Given the description of an element on the screen output the (x, y) to click on. 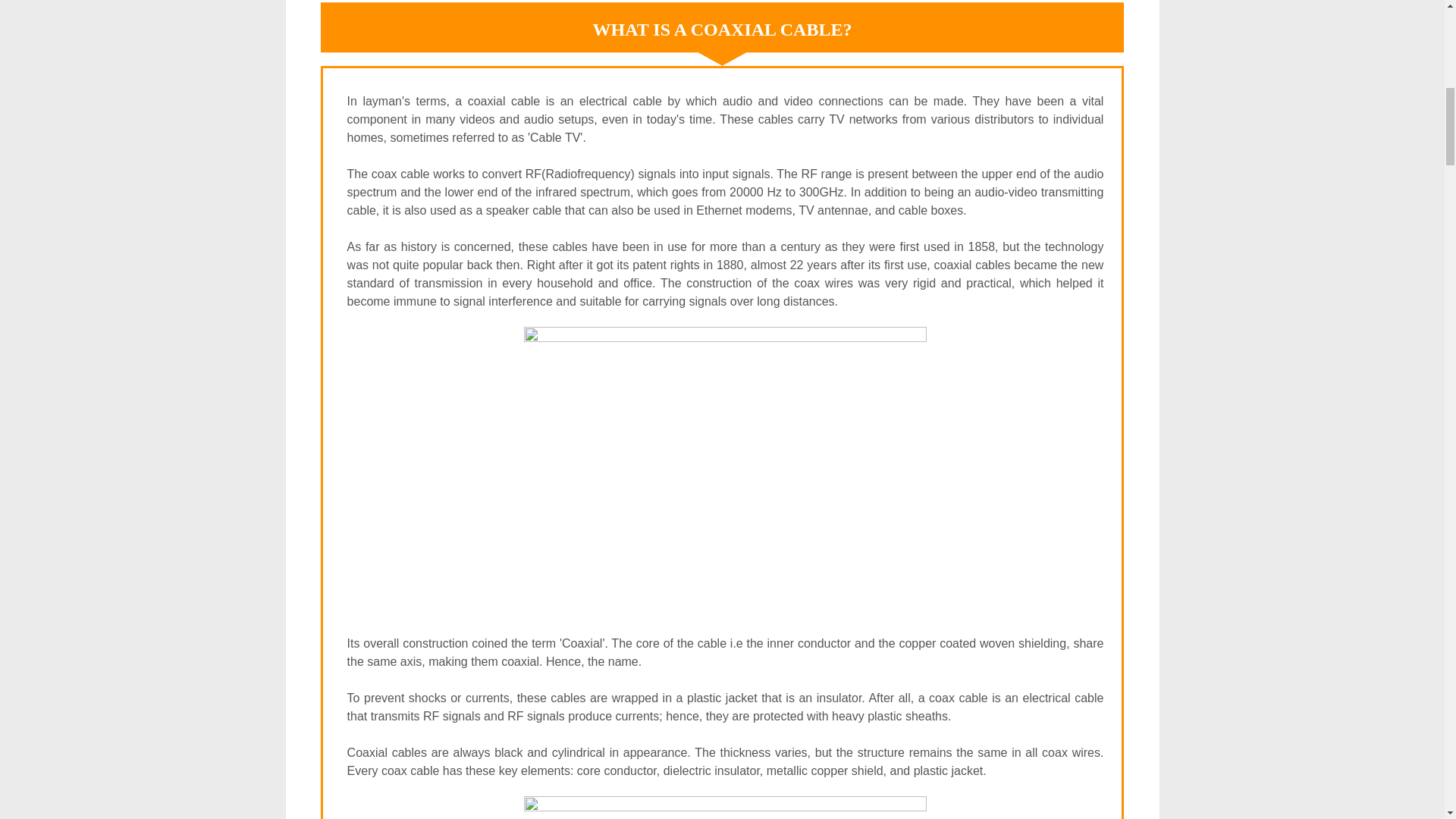
COAXIAL CABLE WORKING (725, 470)
coaxial cable diagram (725, 807)
